Given the description of an element on the screen output the (x, y) to click on. 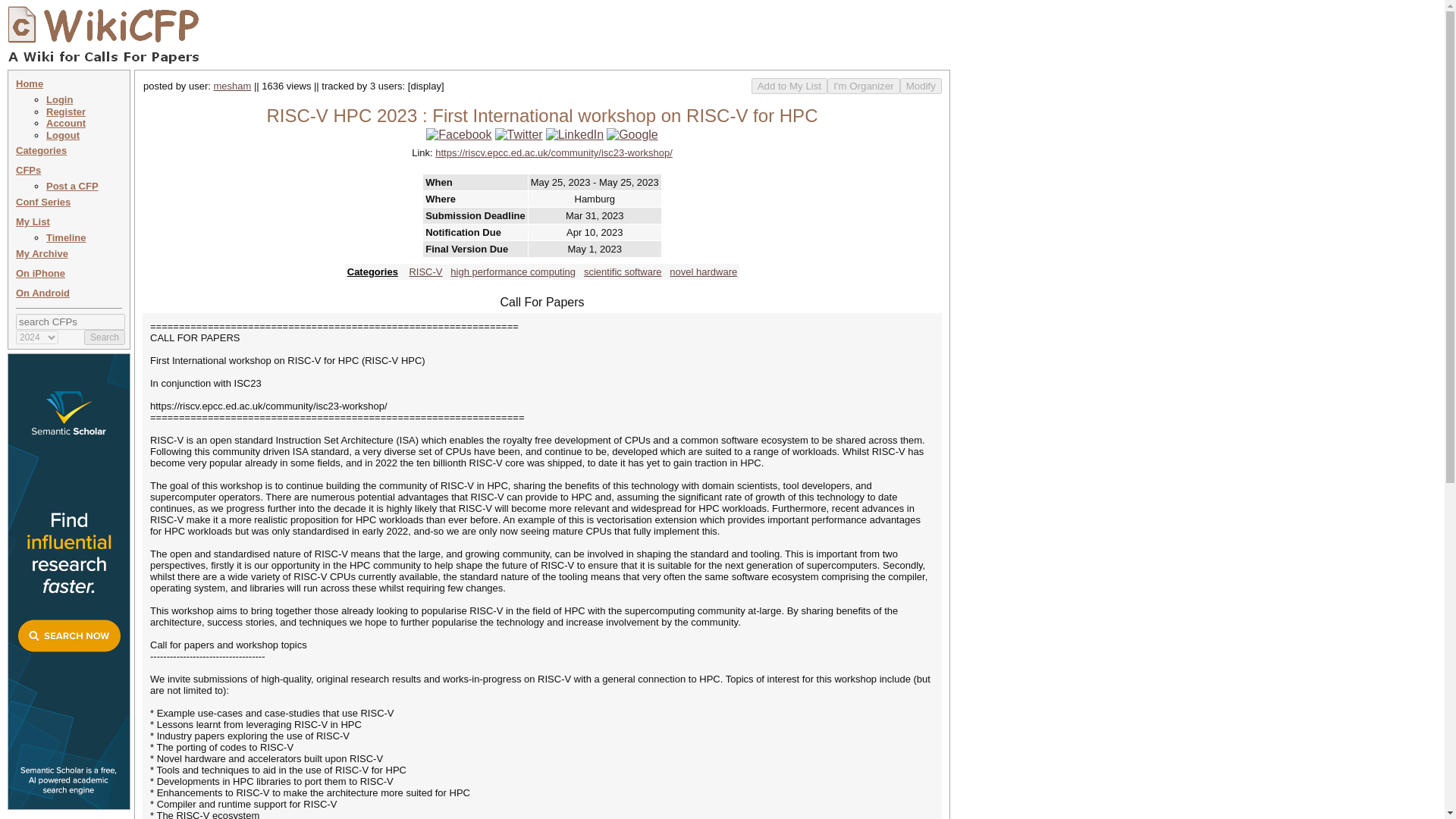
Home (29, 83)
Conf Series (42, 202)
Logout (63, 134)
Post a CFP (72, 185)
Modify (920, 85)
On Android (42, 292)
Modify (920, 85)
Search (104, 337)
CFPs (28, 170)
Add to My List (789, 85)
